Given the description of an element on the screen output the (x, y) to click on. 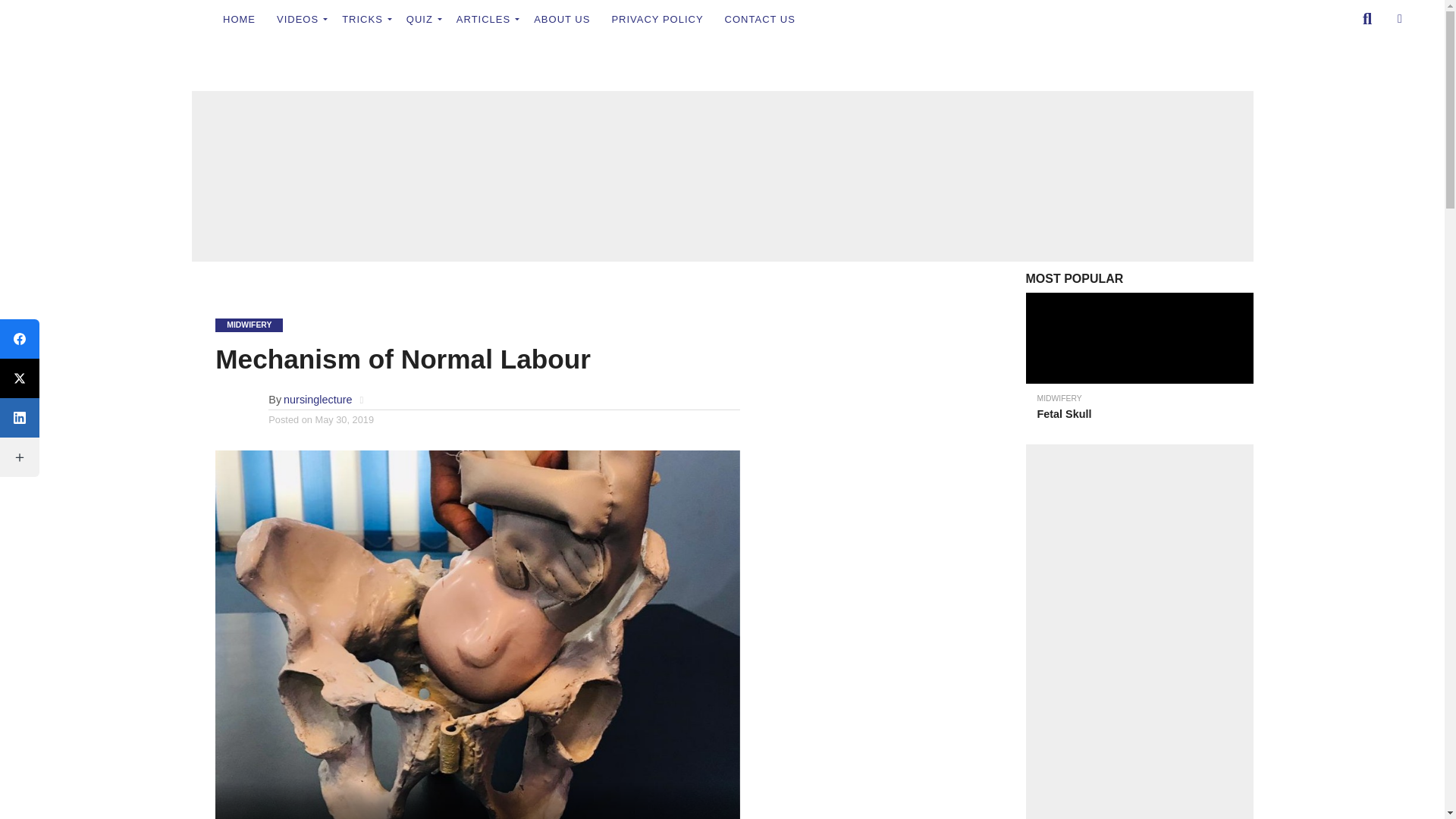
HOME (239, 18)
VIDEOS (298, 18)
Posts by nursinglecture (317, 399)
